Given the description of an element on the screen output the (x, y) to click on. 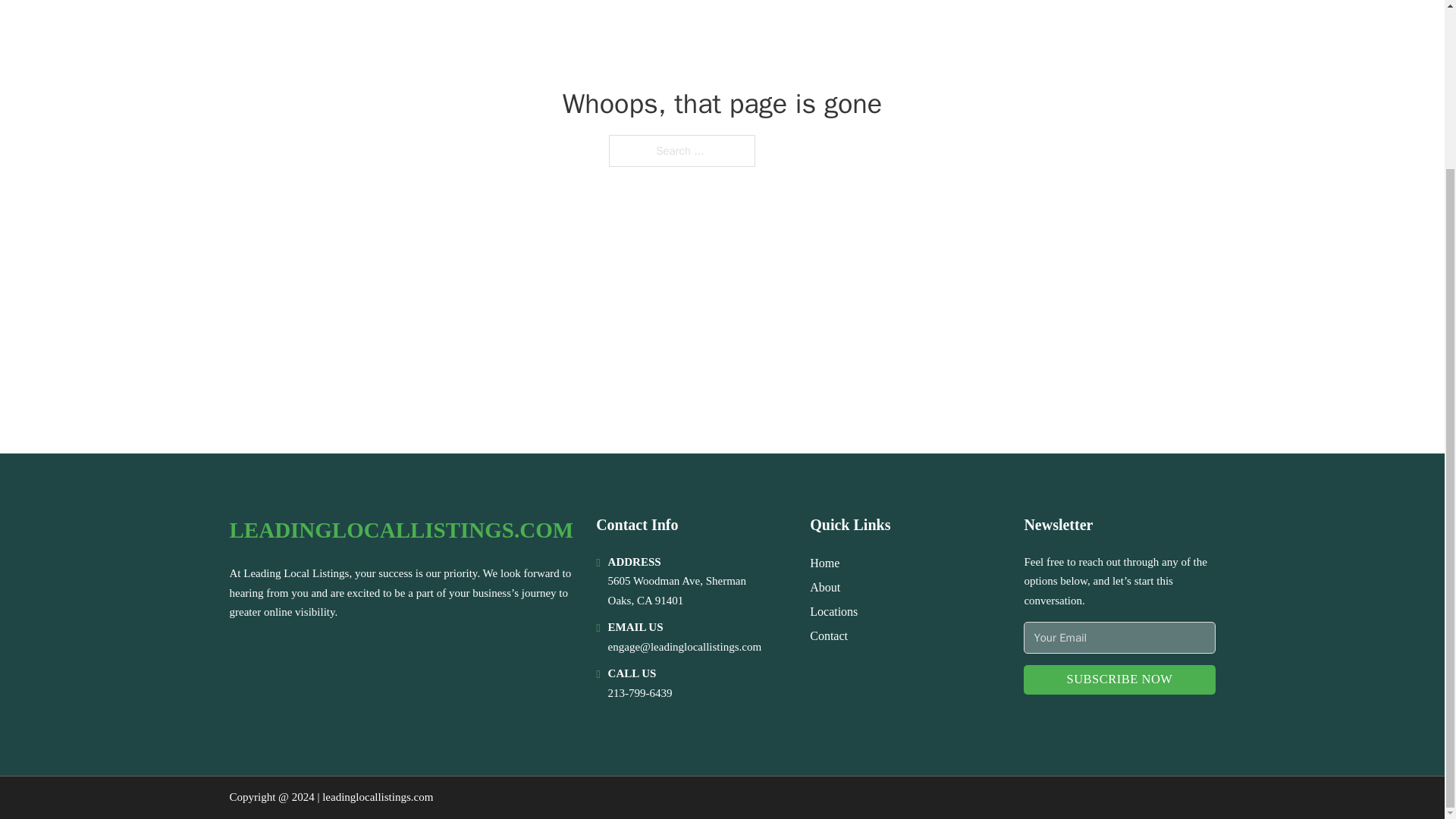
Home (824, 562)
SUBSCRIBE NOW (1118, 679)
About (824, 587)
Contact (828, 635)
LEADINGLOCALLISTINGS.COM (400, 529)
213-799-6439 (640, 693)
Locations (833, 611)
